Given the description of an element on the screen output the (x, y) to click on. 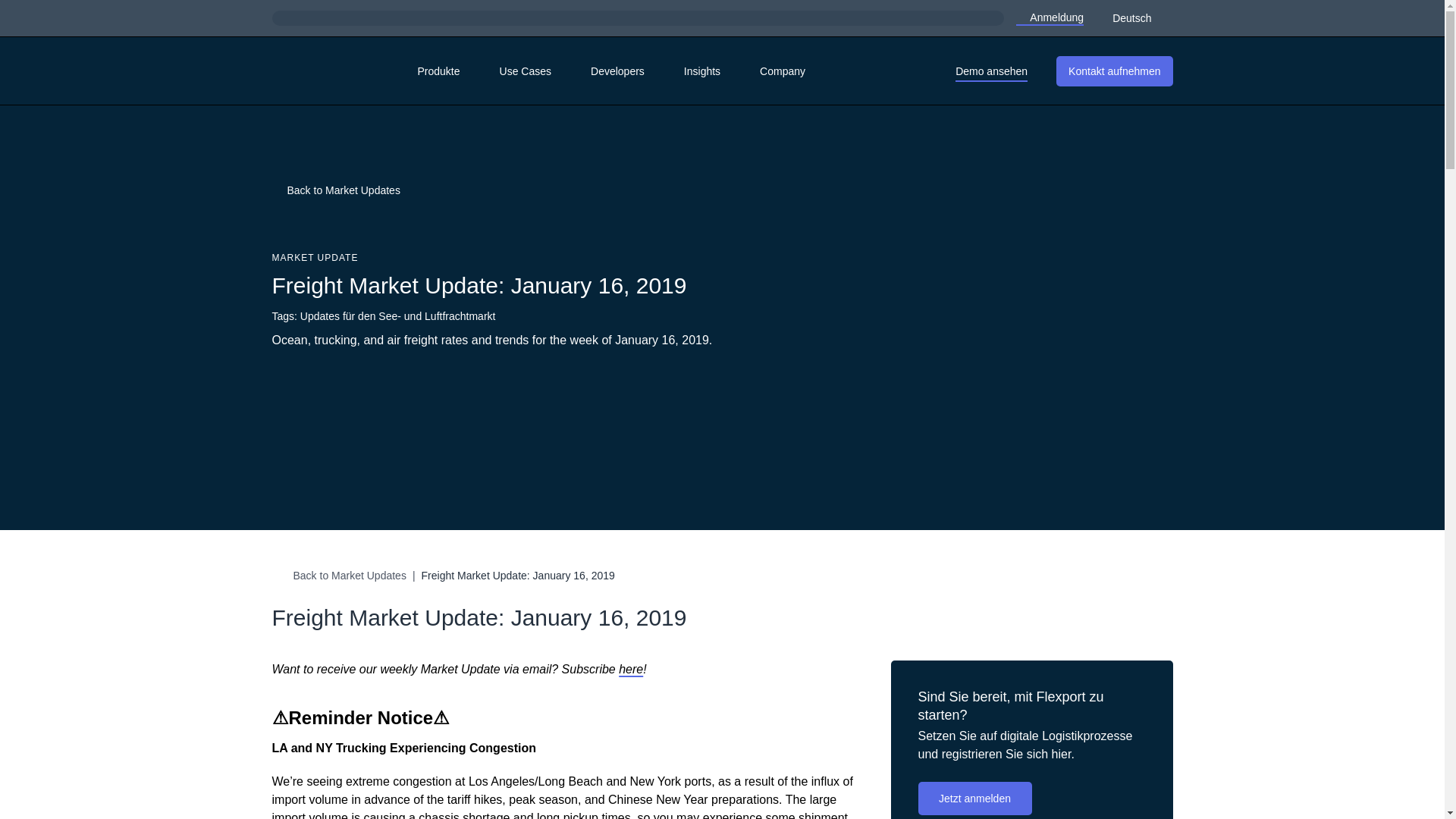
Deutsch (1140, 17)
Anmeldung (1049, 17)
